Given the description of an element on the screen output the (x, y) to click on. 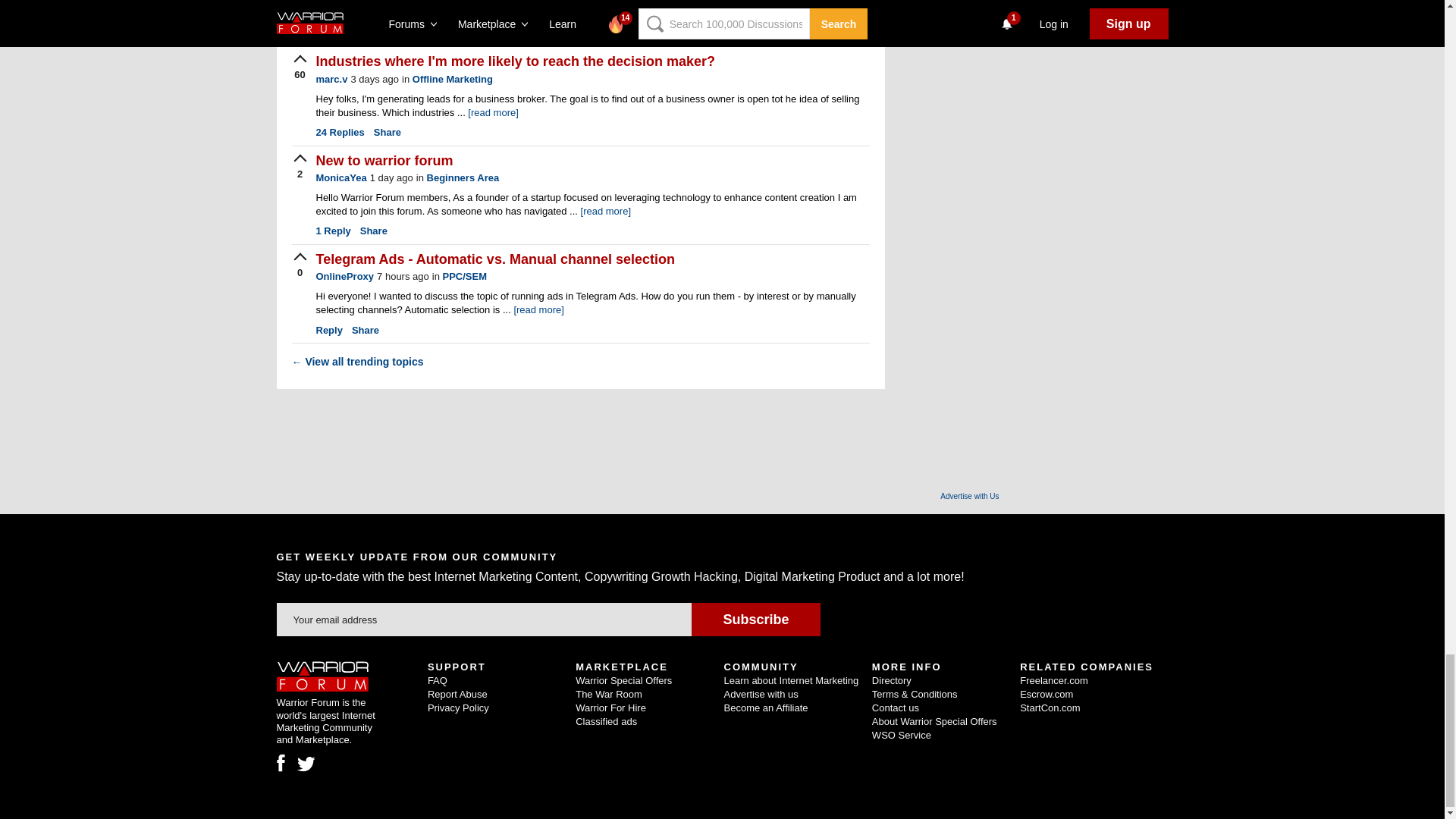
Bird (306, 764)
Subscribe (755, 619)
